Given the description of an element on the screen output the (x, y) to click on. 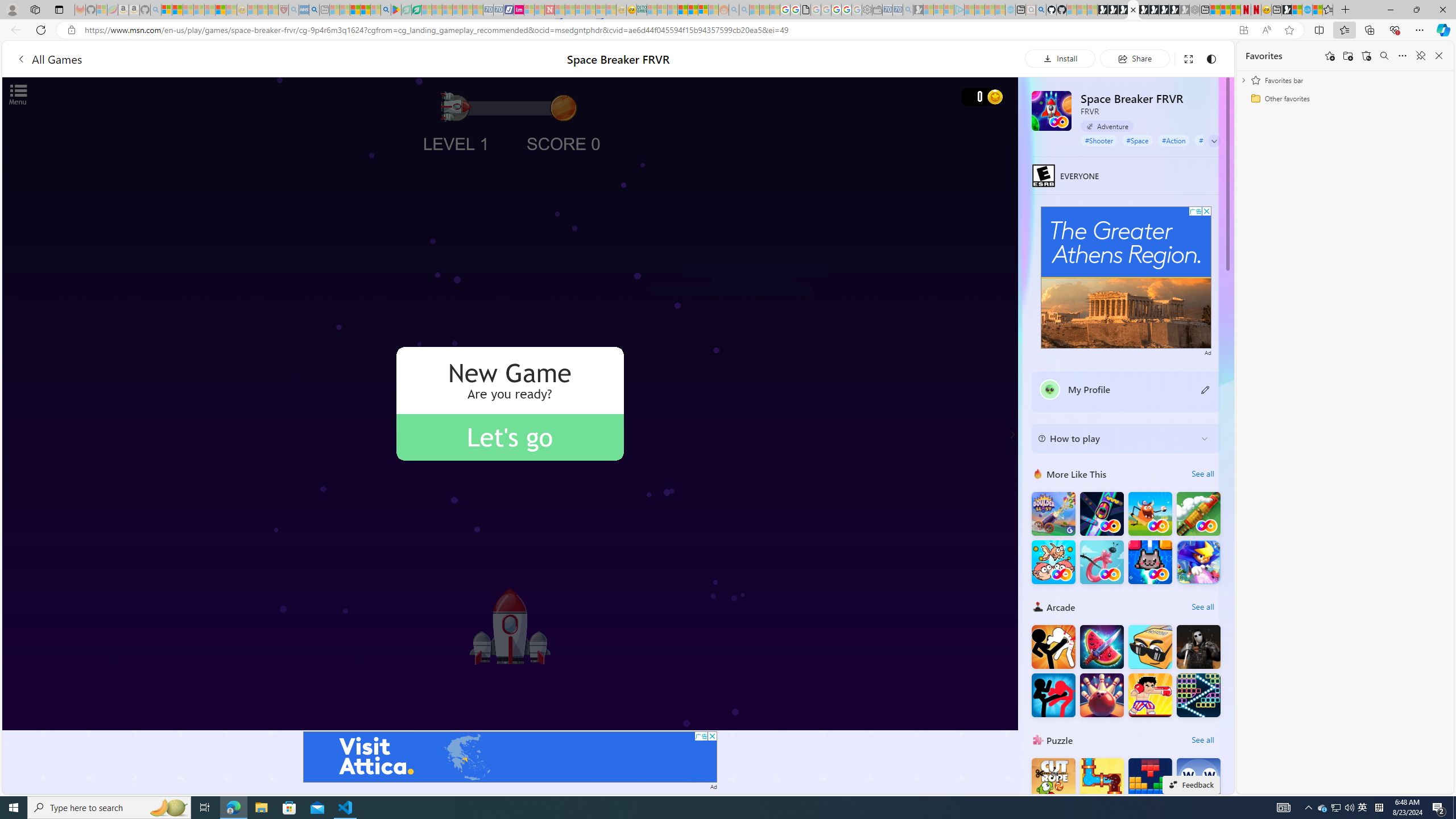
Restore deleted favorites (1366, 55)
Close favorites (1439, 55)
Pets - MSN (365, 9)
Hunter Hitman (1198, 646)
Adventure (1107, 125)
""'s avatar (1049, 389)
Boxing fighter : Super punch (1149, 694)
